Given the description of an element on the screen output the (x, y) to click on. 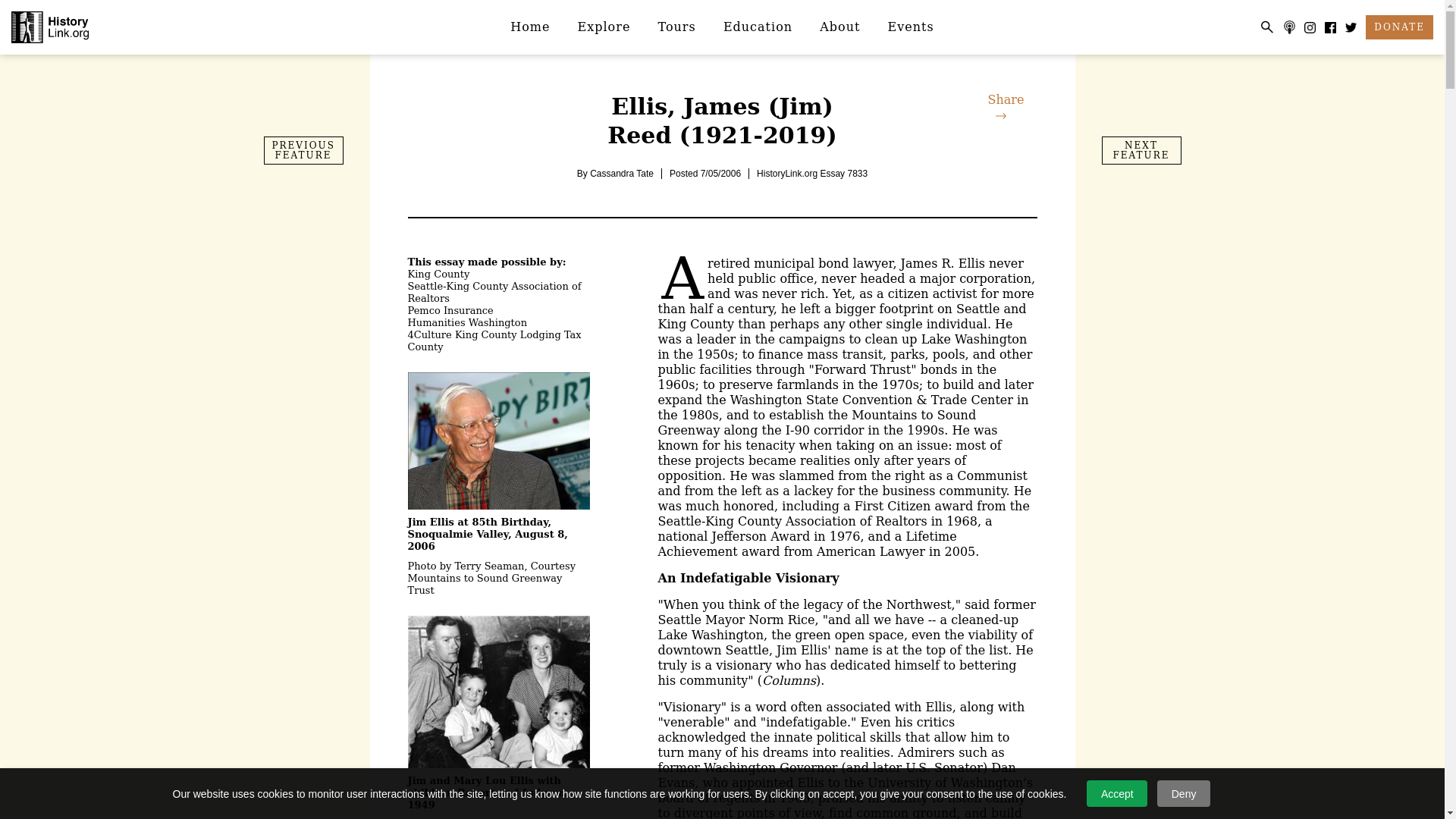
PREVIOUS FEATURE (303, 150)
Accept (1116, 793)
Previous File (303, 150)
Education (758, 26)
Events (911, 26)
Deny (1183, 793)
DONATE (1398, 27)
Next File (1140, 150)
Explore (604, 26)
Tours (677, 26)
About (839, 26)
Home (529, 26)
